Given the description of an element on the screen output the (x, y) to click on. 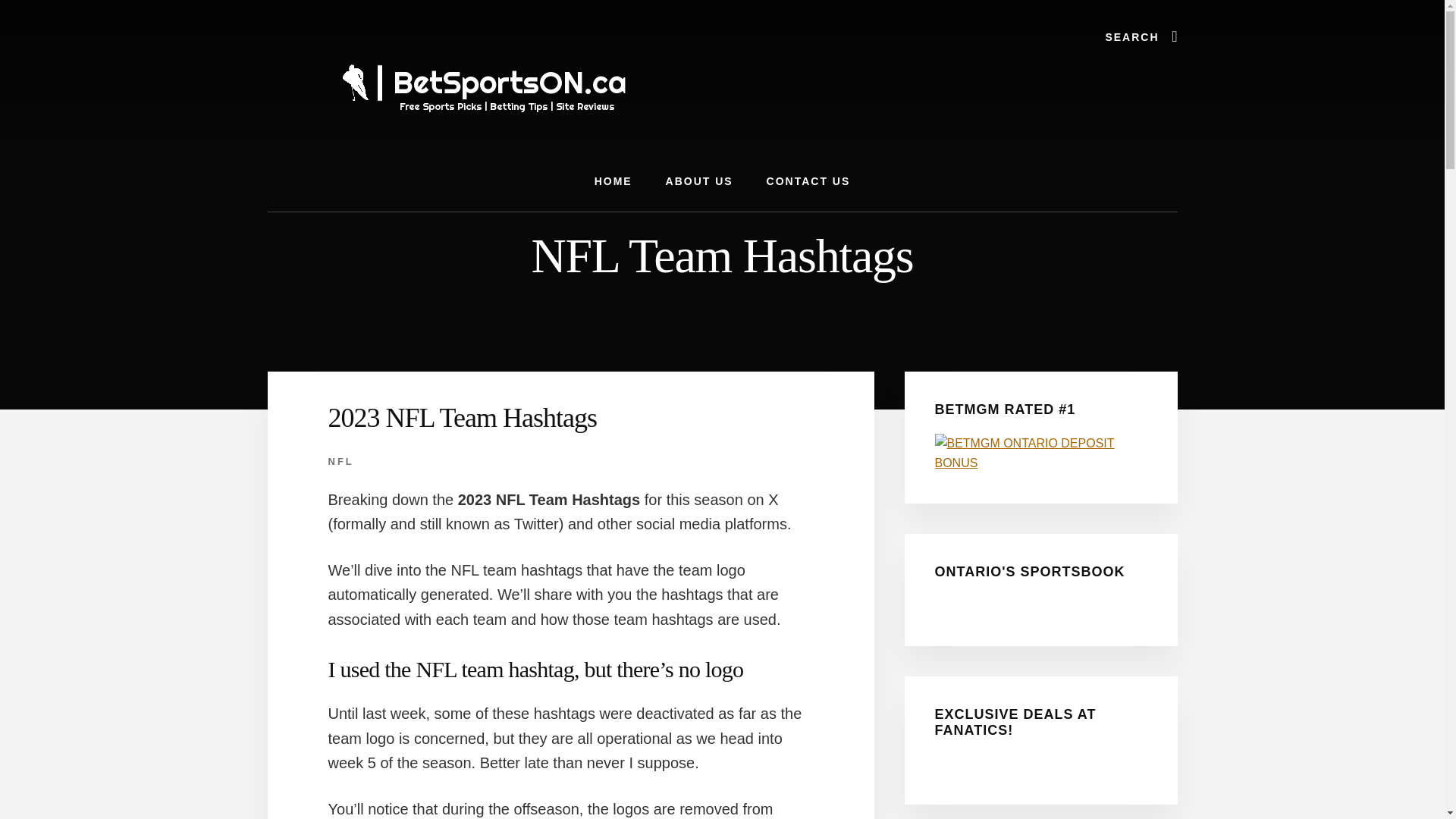
2023 NFL Team Hashtags (461, 417)
HOME (613, 181)
NFL (340, 460)
ABOUT US (699, 181)
CONTACT US (808, 181)
